Given the description of an element on the screen output the (x, y) to click on. 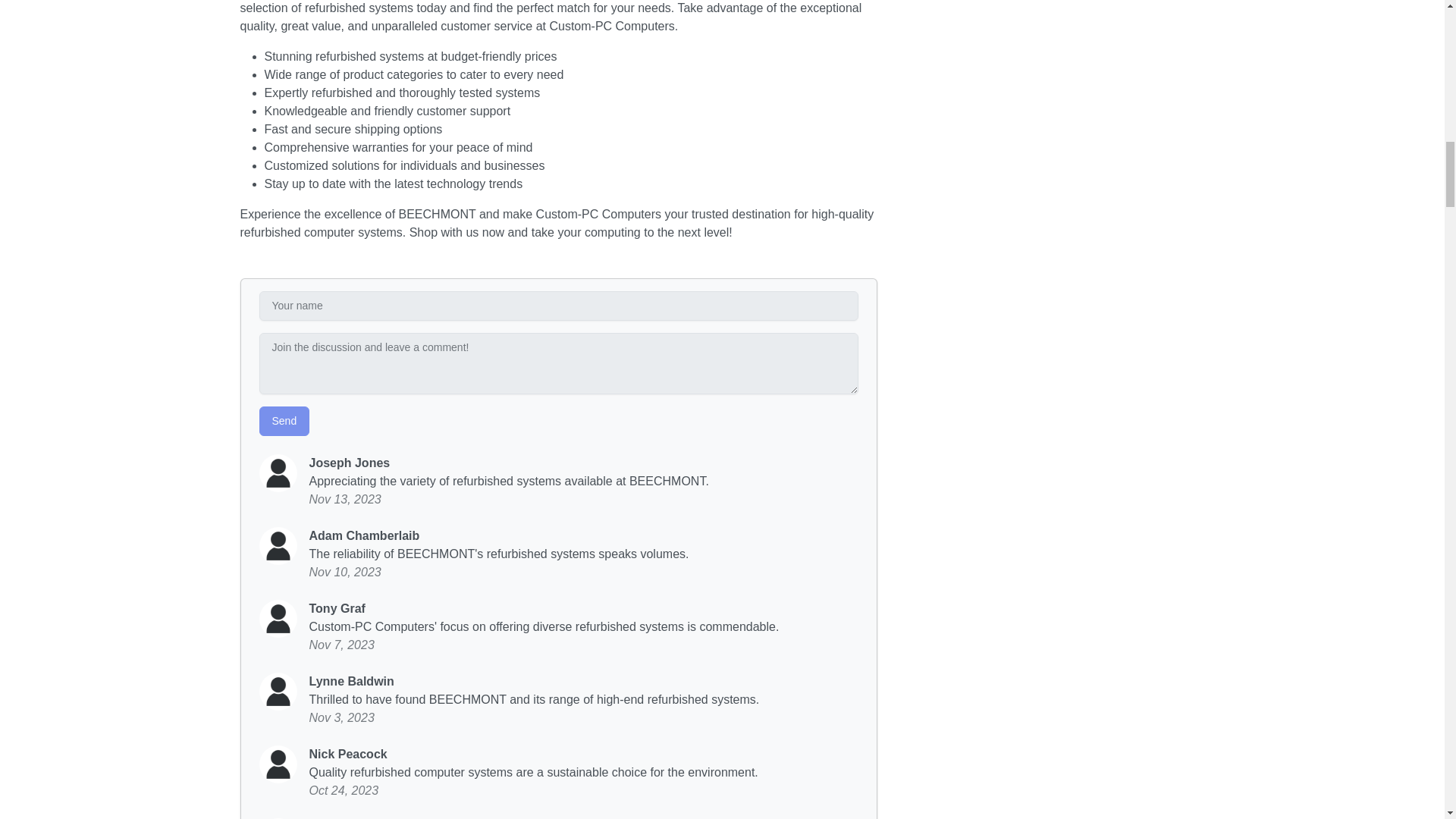
Send (284, 420)
Send (284, 420)
